Given the description of an element on the screen output the (x, y) to click on. 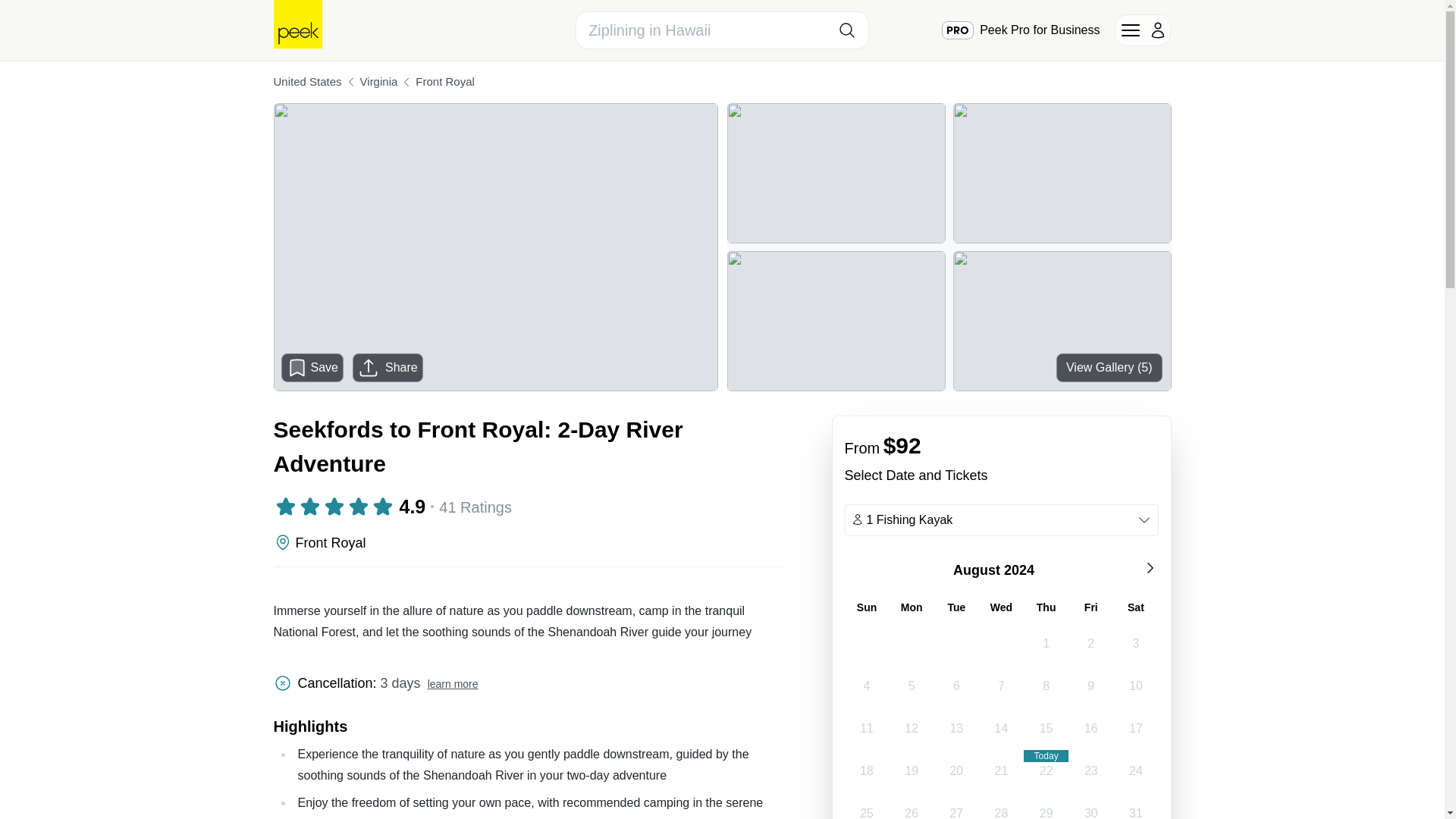
Seekfords to Front Royal: 2-Day River Adventure (528, 446)
Save (311, 367)
Front Royal (444, 81)
Peek Pro for Business (1020, 29)
Virginia (378, 81)
United States (306, 81)
learn more (453, 684)
Share (387, 367)
